Given the description of an element on the screen output the (x, y) to click on. 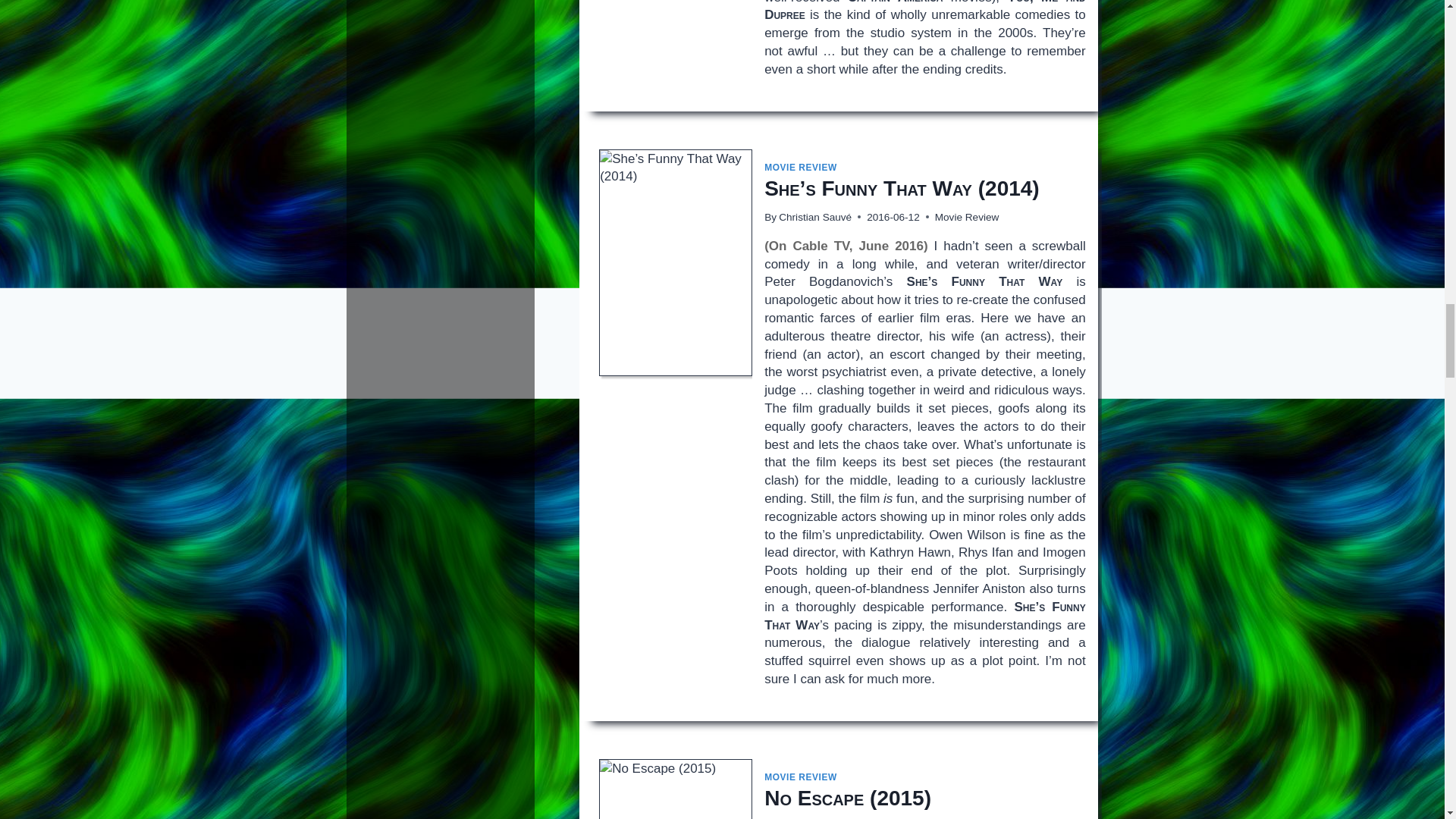
MOVIE REVIEW (800, 777)
Movie Review (966, 216)
MOVIE REVIEW (800, 167)
